Given the description of an element on the screen output the (x, y) to click on. 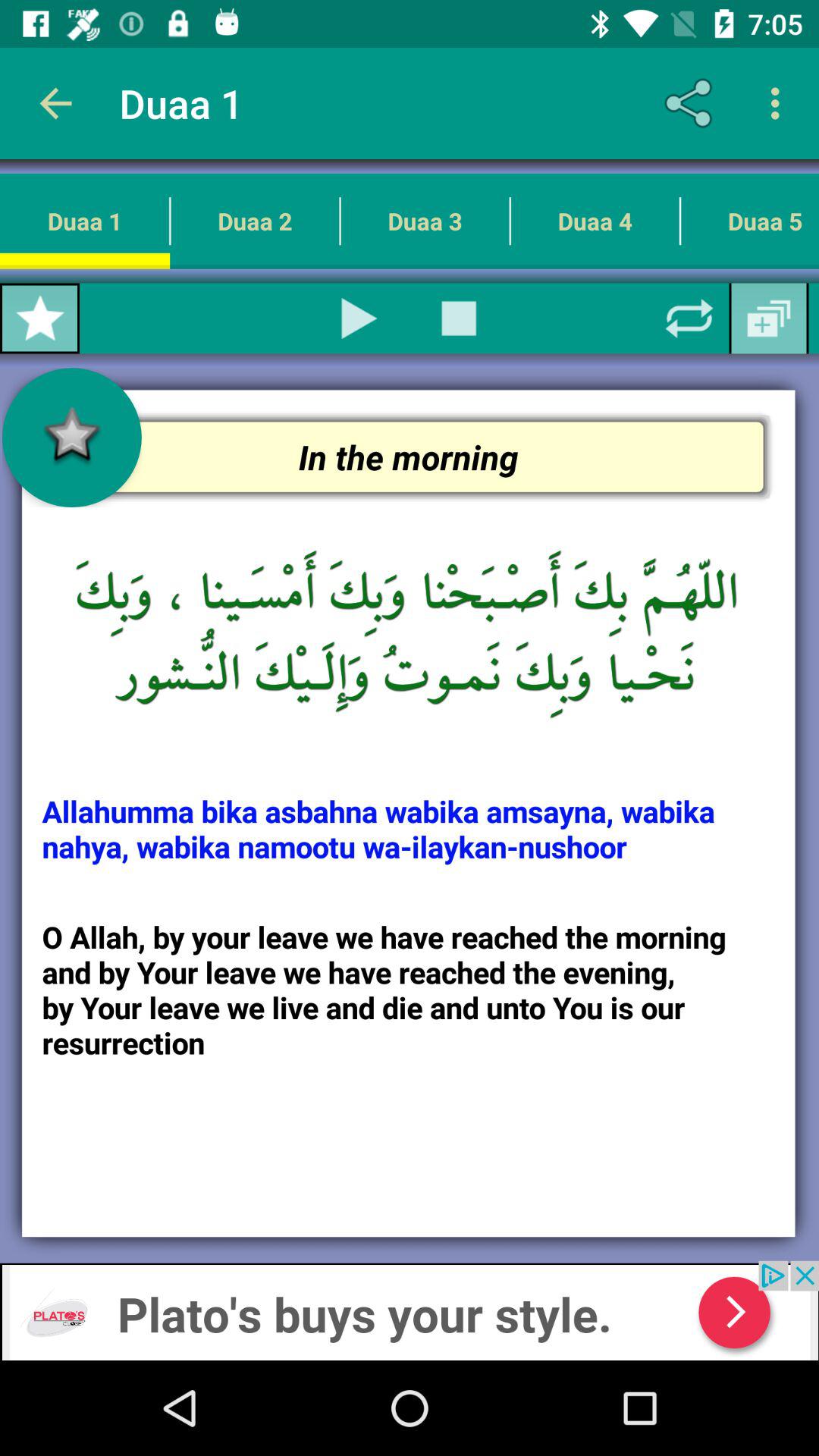
stop playing the track (458, 318)
